Given the description of an element on the screen output the (x, y) to click on. 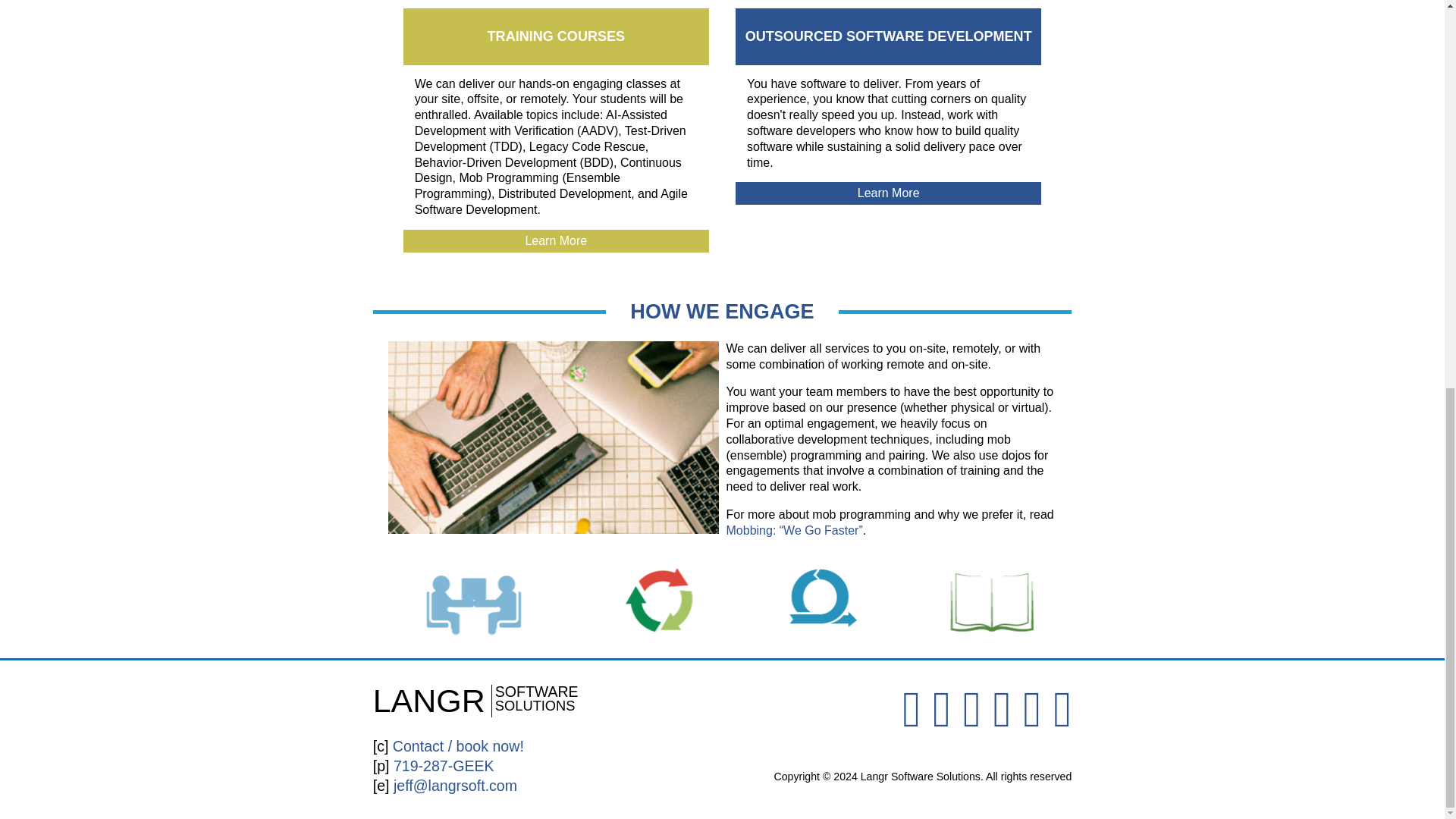
Learn More (484, 700)
Learn More (556, 241)
TRAINING COURSES (888, 192)
OUTSOURCED SOFTWARE DEVELOPMENT (555, 36)
719-287-GEEK (888, 36)
